Given the description of an element on the screen output the (x, y) to click on. 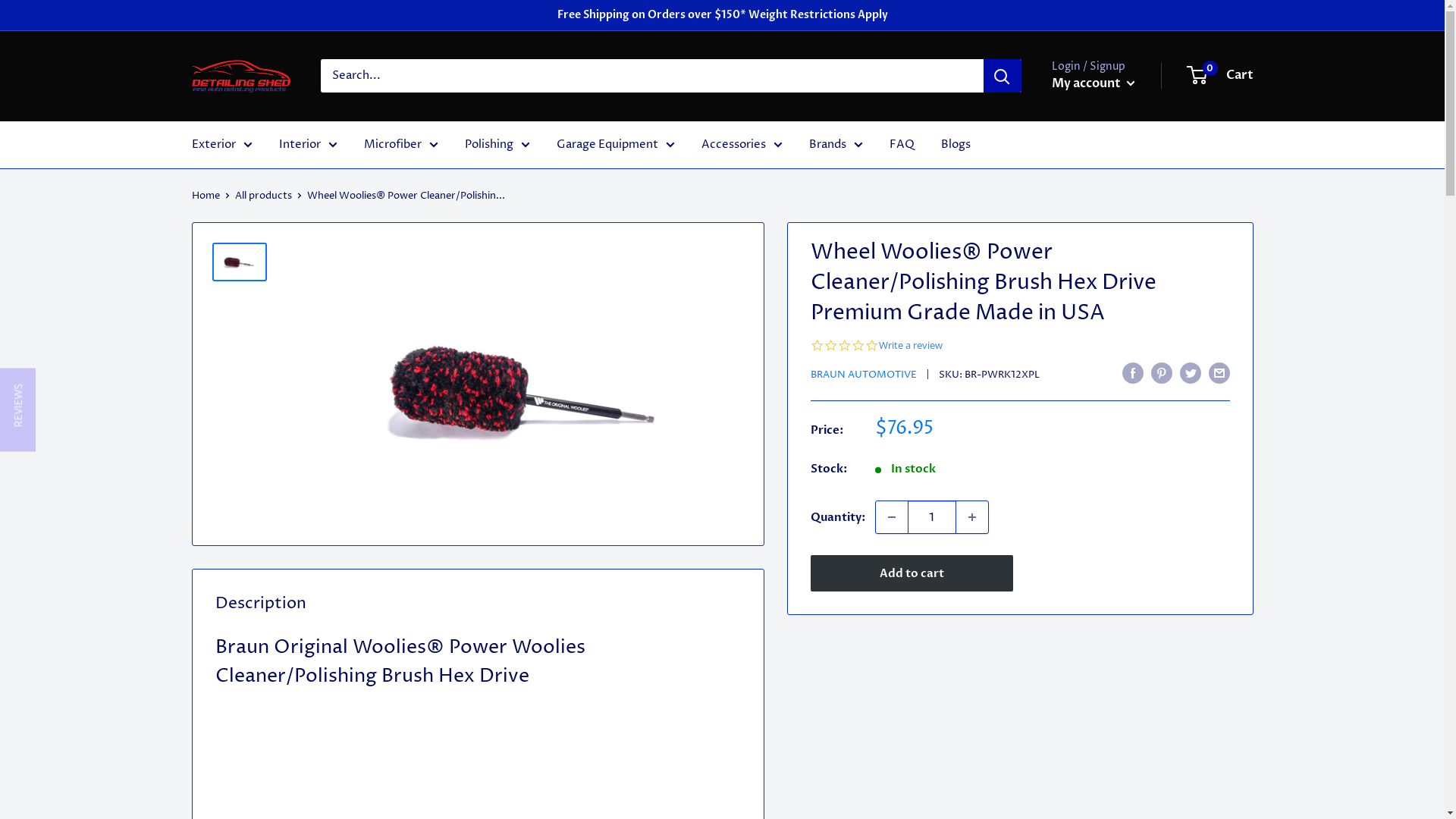
Microfiber Element type: text (401, 144)
Exterior Element type: text (221, 144)
Free Shipping on Orders over $150* Weight Restrictions Apply Element type: text (721, 15)
0
Cart Element type: text (1219, 75)
My account Element type: text (1092, 83)
Decrease quantity by 1 Element type: hover (890, 517)
Accessories Element type: text (740, 144)
BRAUN AUTOMOTIVE Element type: text (862, 374)
Add to cart Element type: text (911, 573)
Write a review Element type: text (909, 345)
Detailing Shed Element type: text (240, 76)
All products Element type: text (263, 195)
Blogs Element type: text (954, 144)
Brands Element type: text (835, 144)
Interior Element type: text (308, 144)
Home Element type: text (205, 195)
Increase quantity by 1 Element type: hover (971, 517)
Polishing Element type: text (496, 144)
Garage Equipment Element type: text (615, 144)
FAQ Element type: text (900, 144)
